Given the description of an element on the screen output the (x, y) to click on. 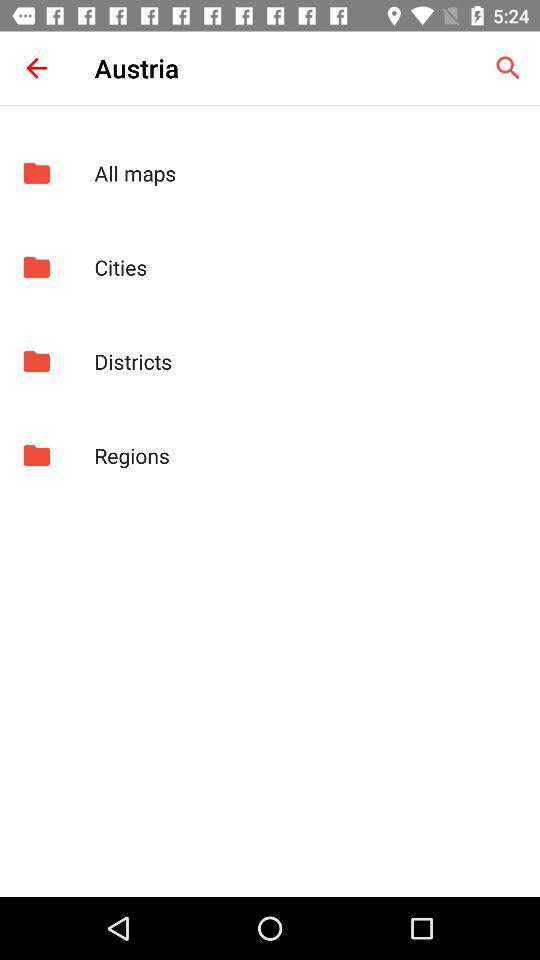
turn off all maps icon (306, 173)
